Given the description of an element on the screen output the (x, y) to click on. 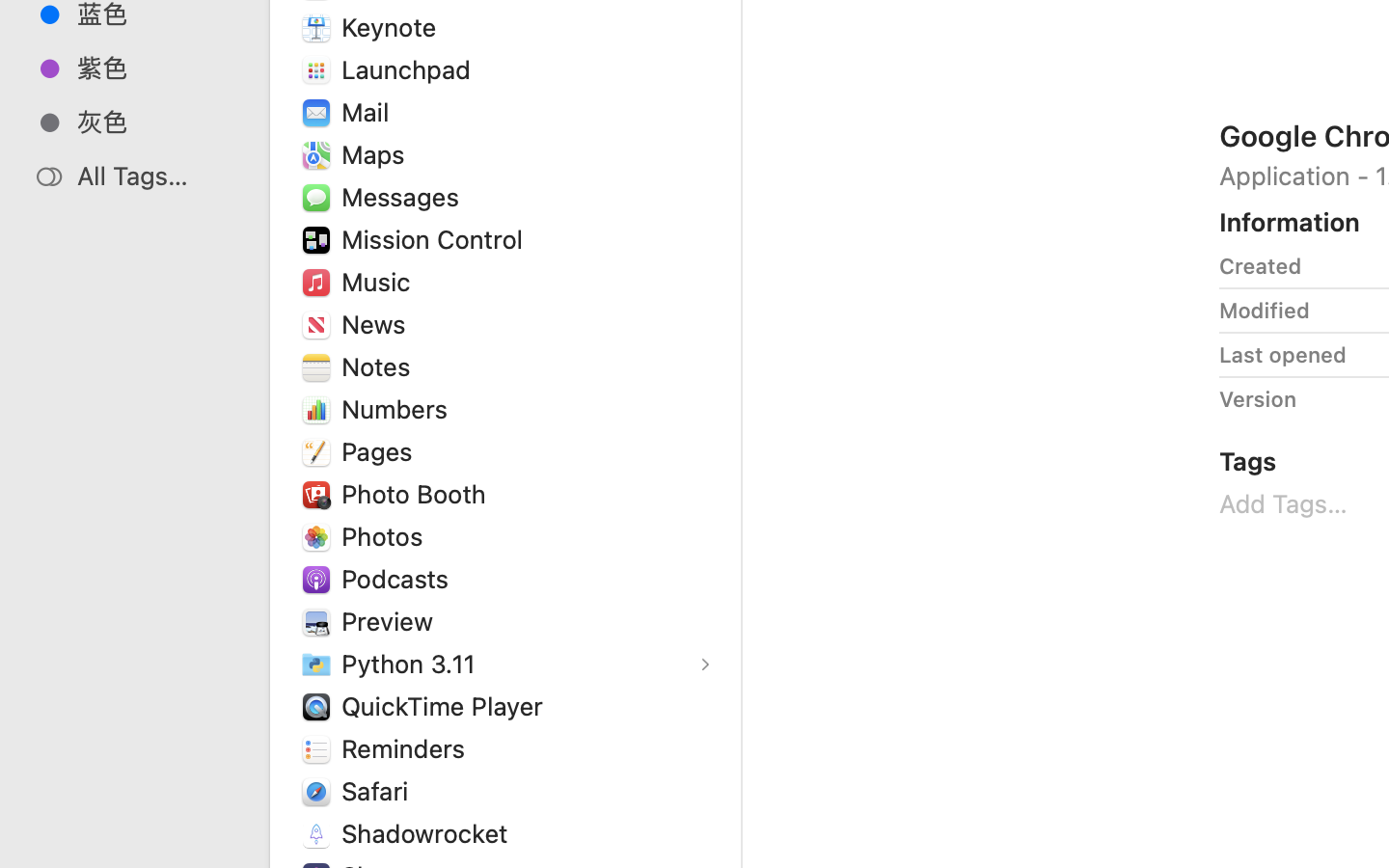
News Element type: AXTextField (377, 323)
Python 3.11 Element type: AXTextField (412, 663)
Created Element type: AXStaticText (1260, 265)
Photo Booth Element type: AXTextField (417, 493)
Keynote Element type: AXTextField (393, 26)
